Given the description of an element on the screen output the (x, y) to click on. 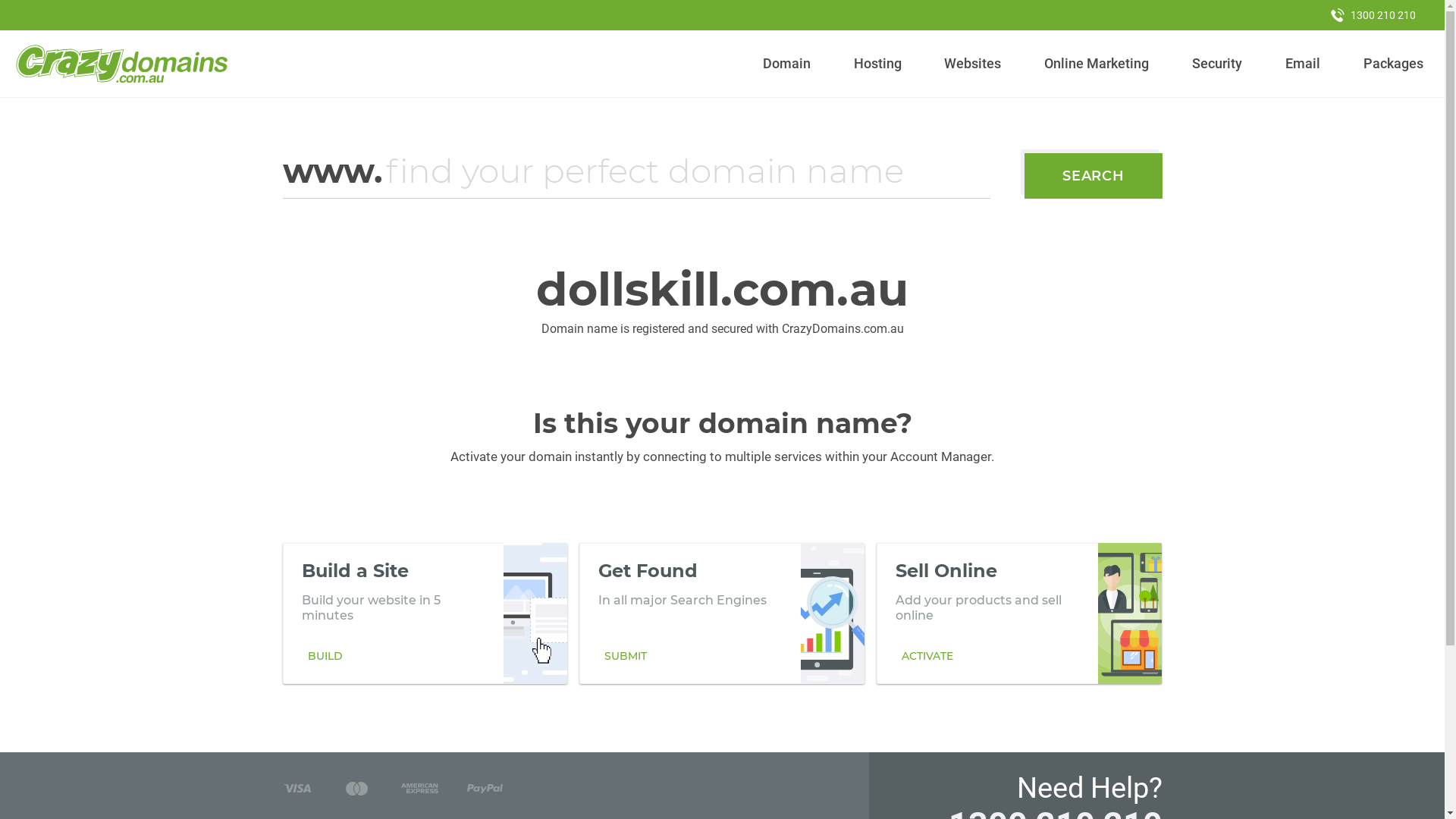
Get Found
In all major Search Engines
SUBMIT Element type: text (721, 613)
SEARCH Element type: text (1092, 175)
Security Element type: text (1217, 63)
Hosting Element type: text (877, 63)
Domain Element type: text (786, 63)
Websites Element type: text (972, 63)
Sell Online
Add your products and sell online
ACTIVATE Element type: text (1018, 613)
Online Marketing Element type: text (1096, 63)
1300 210 210 Element type: text (1373, 15)
Build a Site
Build your website in 5 minutes
BUILD Element type: text (424, 613)
Email Element type: text (1302, 63)
Packages Element type: text (1392, 63)
